Given the description of an element on the screen output the (x, y) to click on. 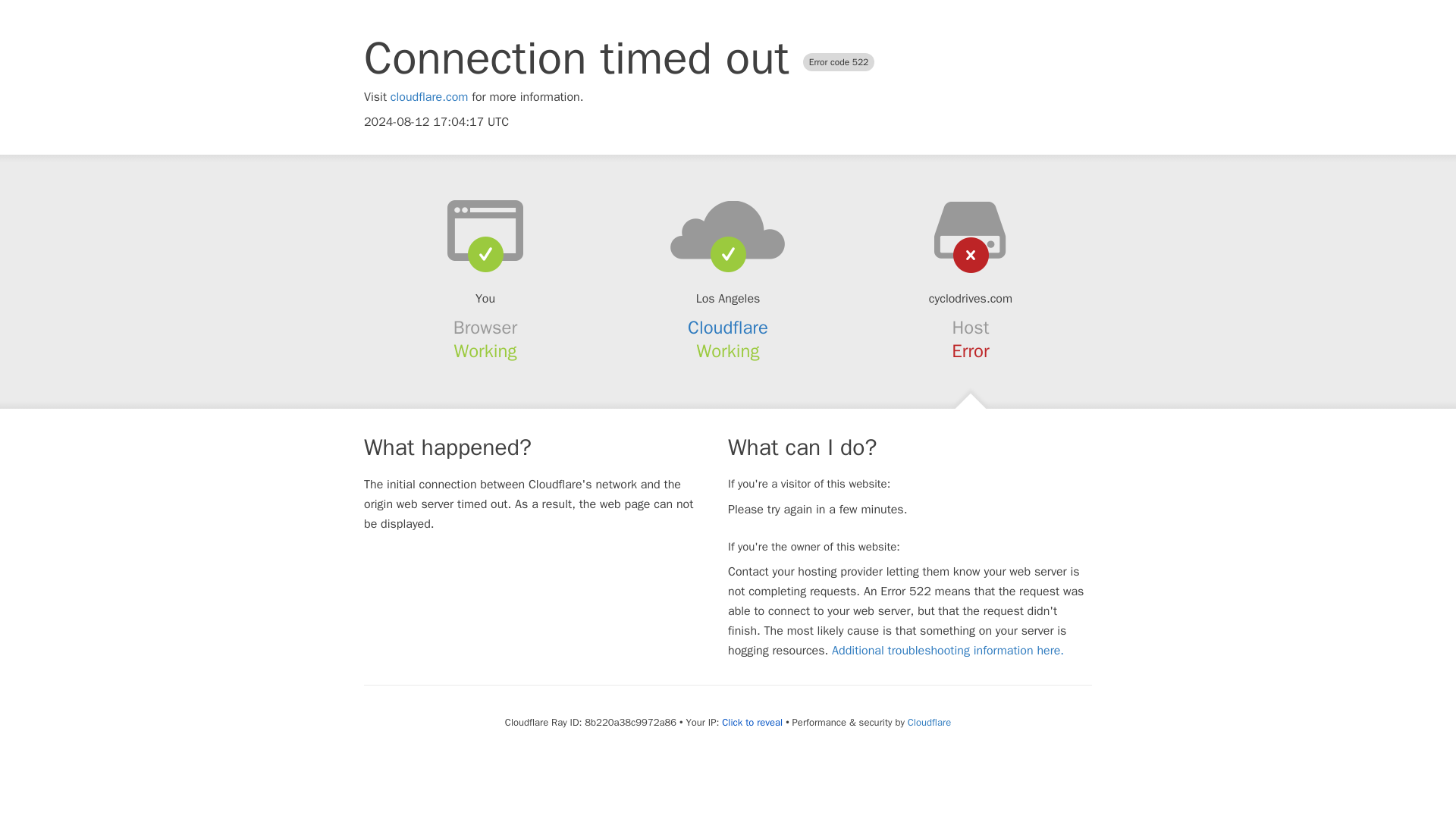
Additional troubleshooting information here. (947, 650)
cloudflare.com (429, 96)
Cloudflare (727, 327)
Click to reveal (752, 722)
Cloudflare (928, 721)
